Given the description of an element on the screen output the (x, y) to click on. 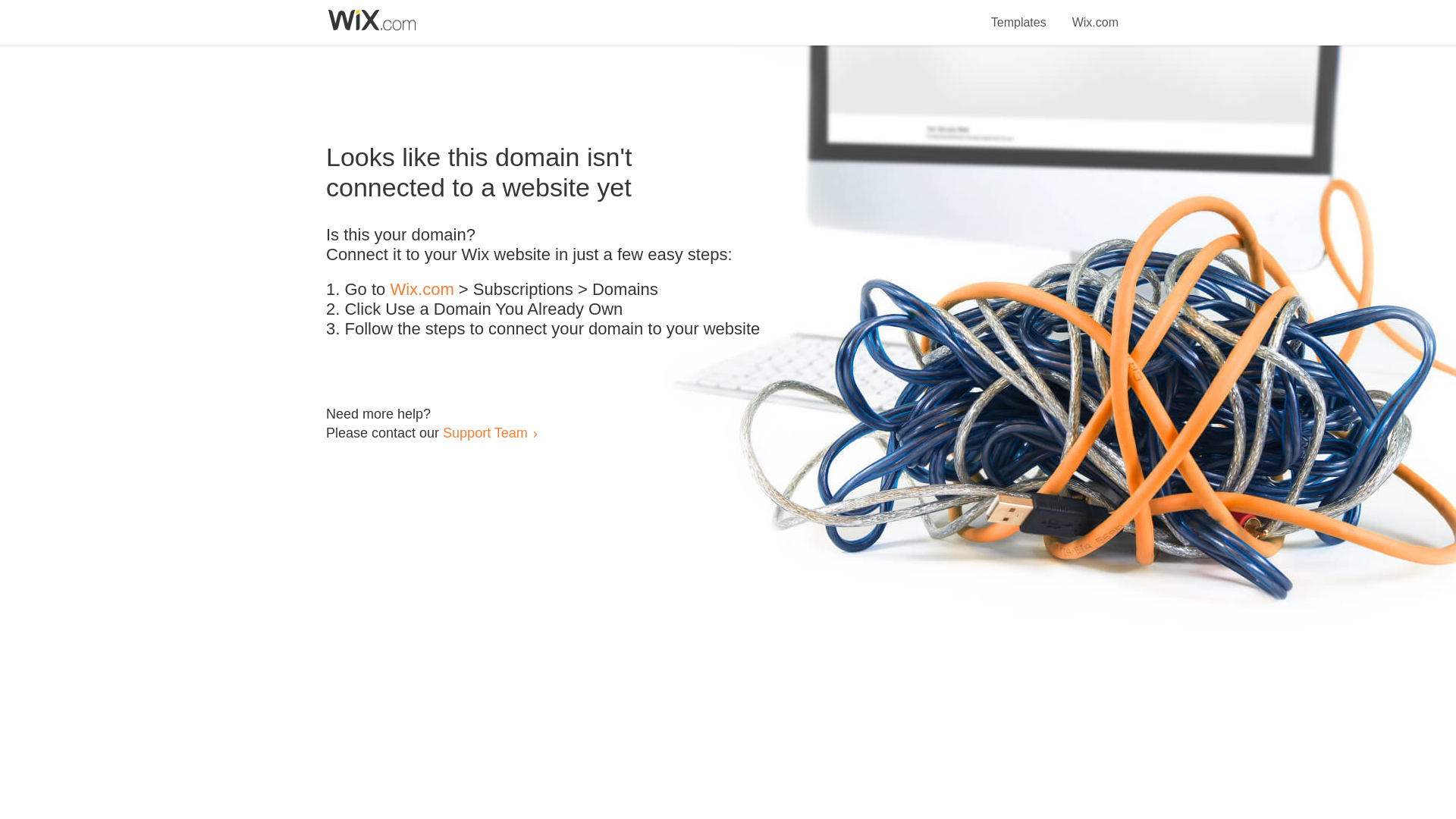
Support Team (484, 432)
Templates (1018, 14)
Wix.com (421, 289)
Wix.com (1095, 14)
